Given the description of an element on the screen output the (x, y) to click on. 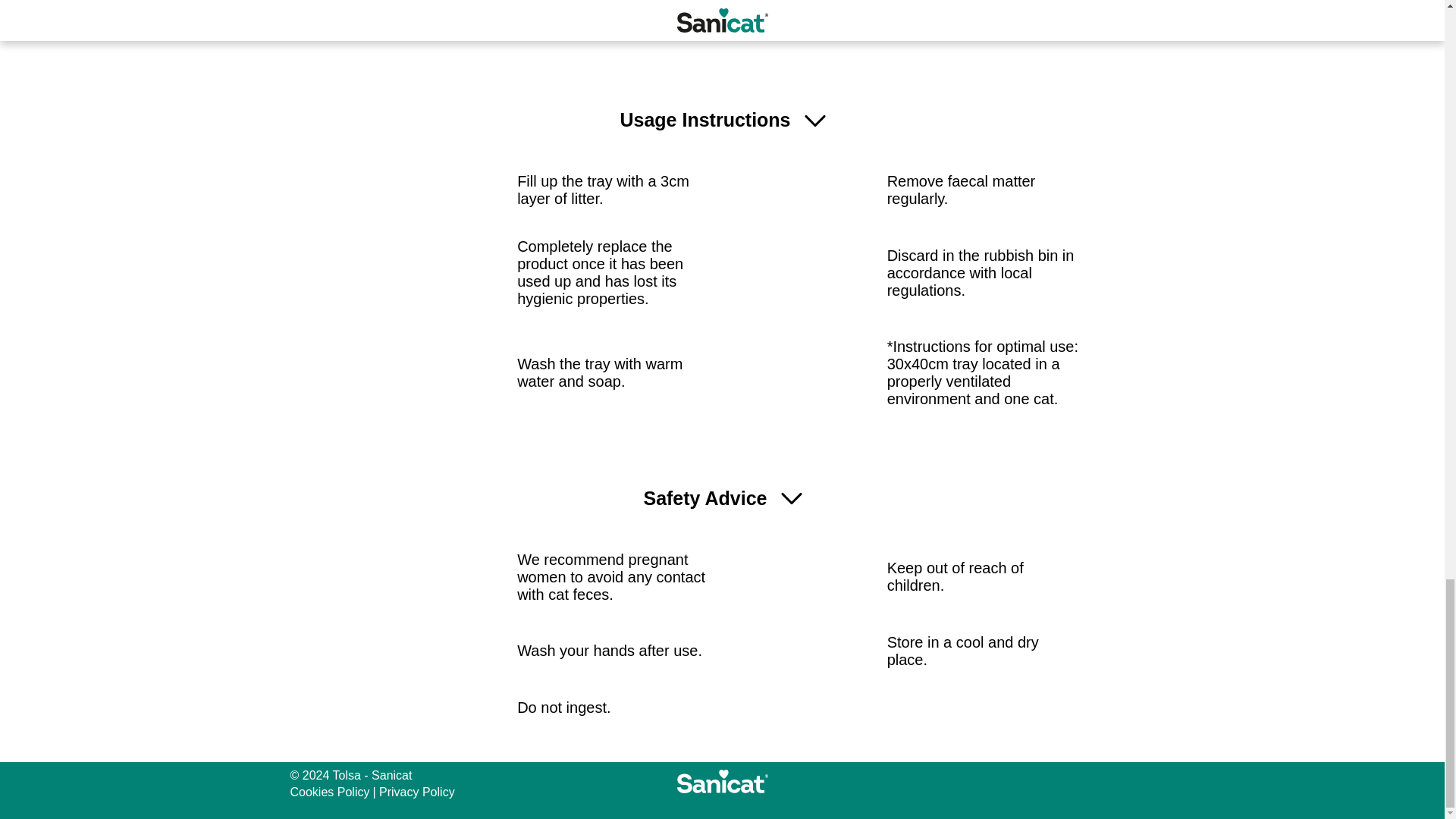
Safety Advice (721, 498)
Cookies Policy (329, 791)
Facebook (1114, 782)
Privacy Policy (416, 791)
Instagram (1144, 782)
Usage Instructions (721, 120)
